Given the description of an element on the screen output the (x, y) to click on. 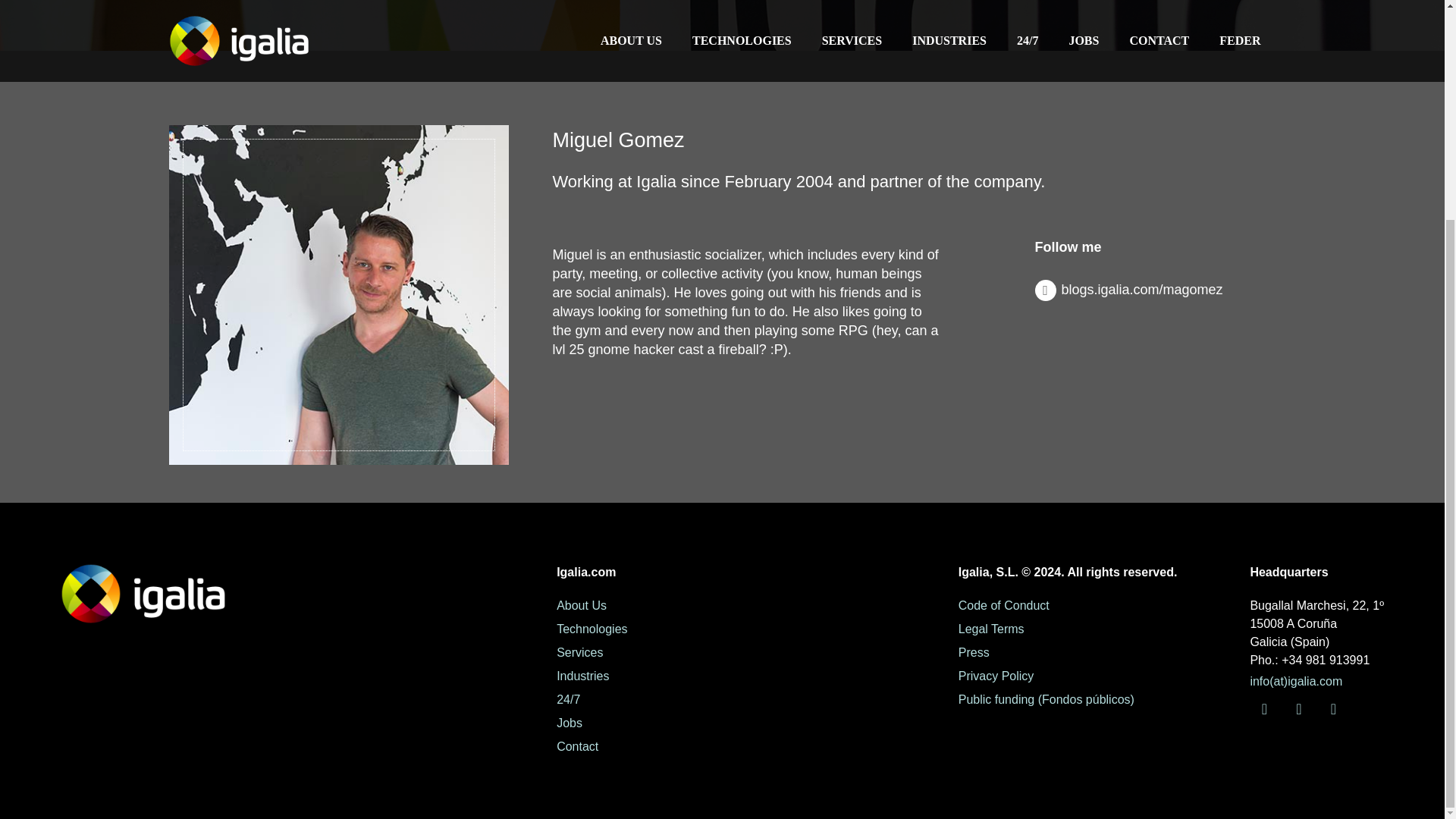
Legal Terms (991, 628)
Privacy Policy (995, 675)
Contact (577, 746)
About Us (581, 605)
Technologies (591, 628)
Jobs (569, 722)
Press (974, 652)
Industries (582, 675)
About Us (581, 605)
Services (579, 652)
Code of Conduct (1003, 605)
